Given the description of an element on the screen output the (x, y) to click on. 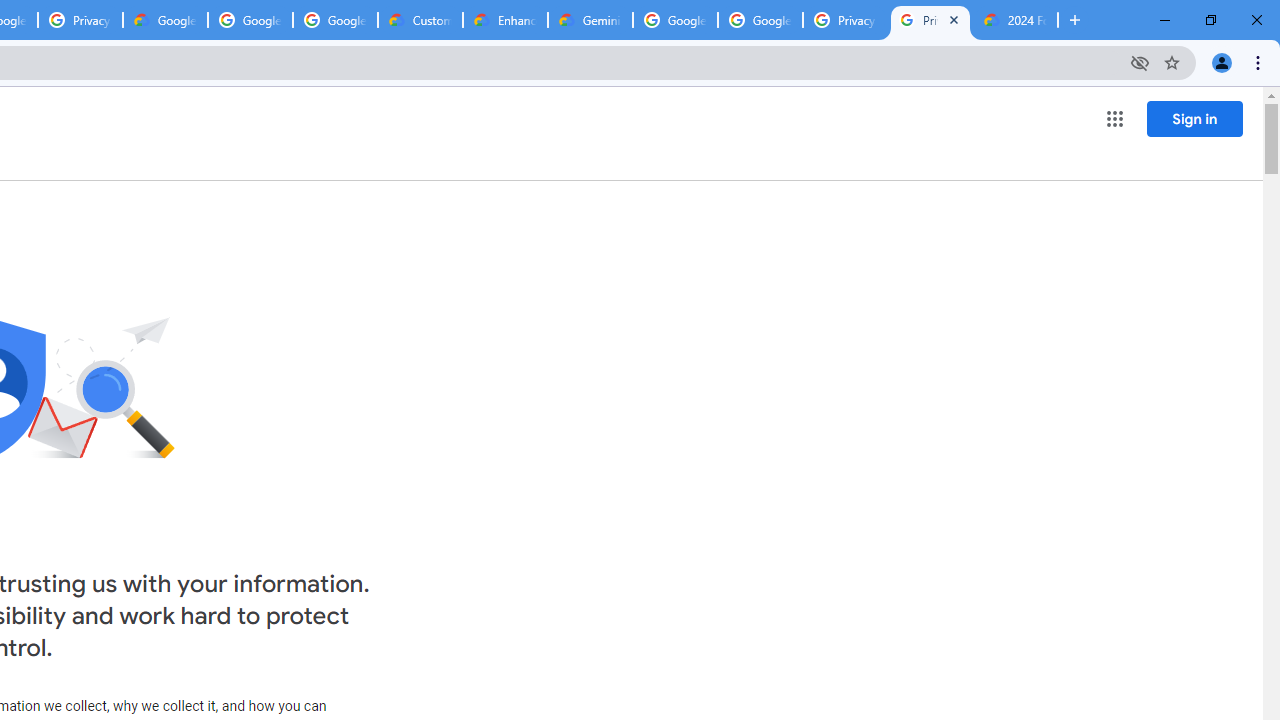
Google Workspace - Specific Terms (335, 20)
Google Cloud Platform (675, 20)
Customer Care | Google Cloud (420, 20)
